Given the description of an element on the screen output the (x, y) to click on. 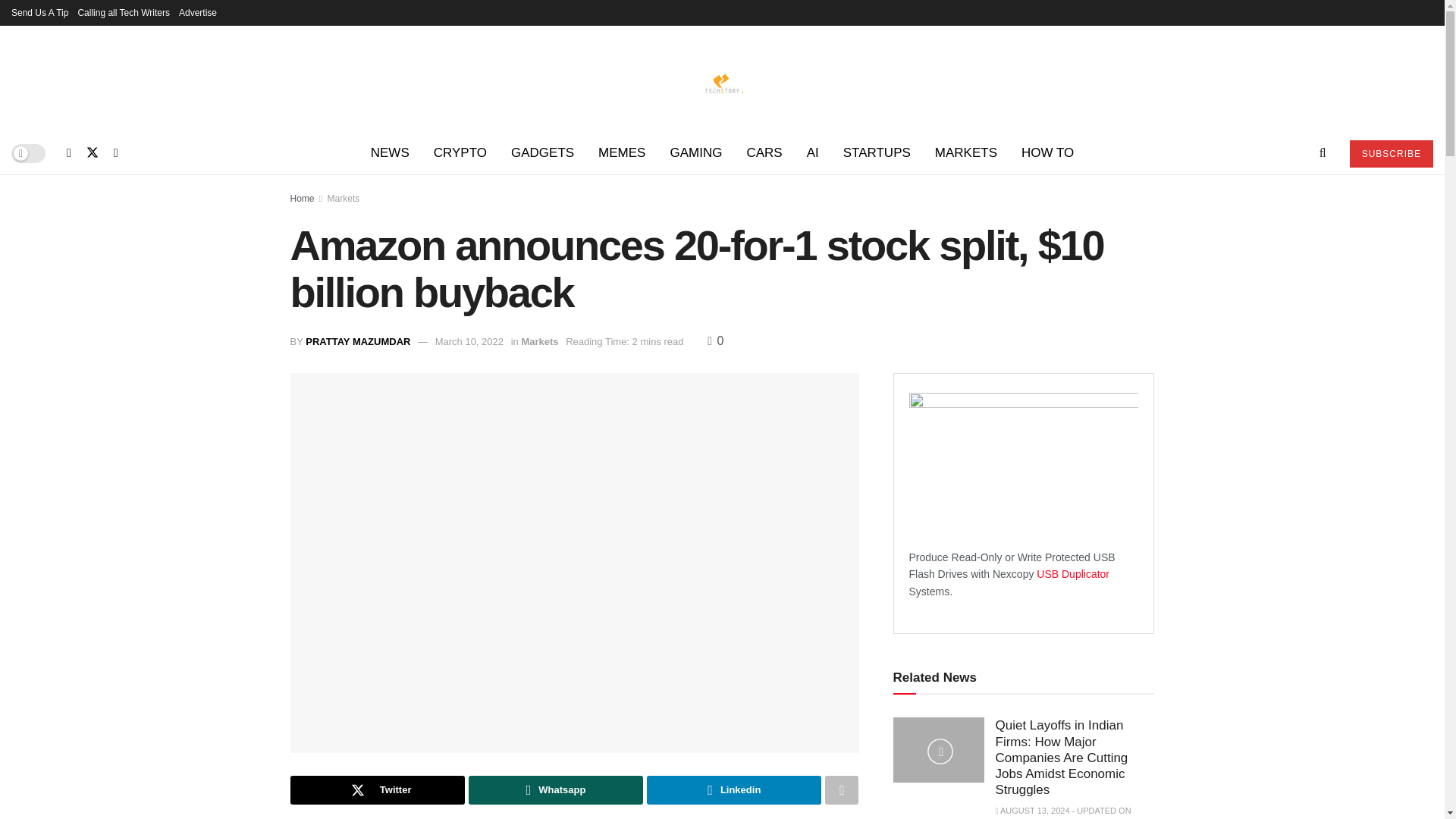
STARTUPS (877, 152)
GAMING (695, 152)
Markets (343, 198)
CARS (763, 152)
Advertise (197, 12)
Calling all Tech Writers (123, 12)
MARKETS (966, 152)
SUBSCRIBE (1390, 153)
NEWS (390, 152)
HOW TO (1047, 152)
